Given the description of an element on the screen output the (x, y) to click on. 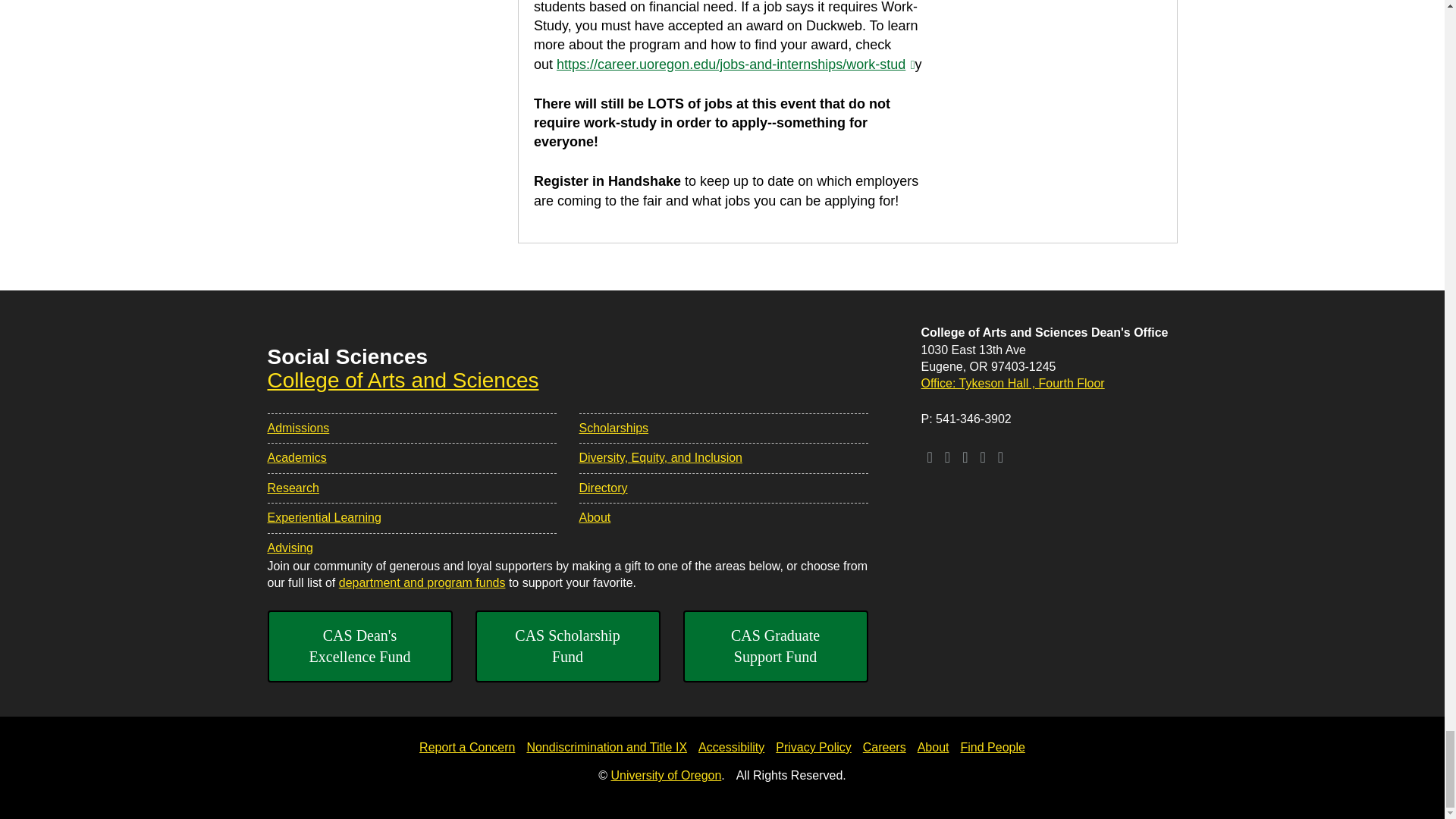
View location on UO Maps (1013, 382)
